Given the description of an element on the screen output the (x, y) to click on. 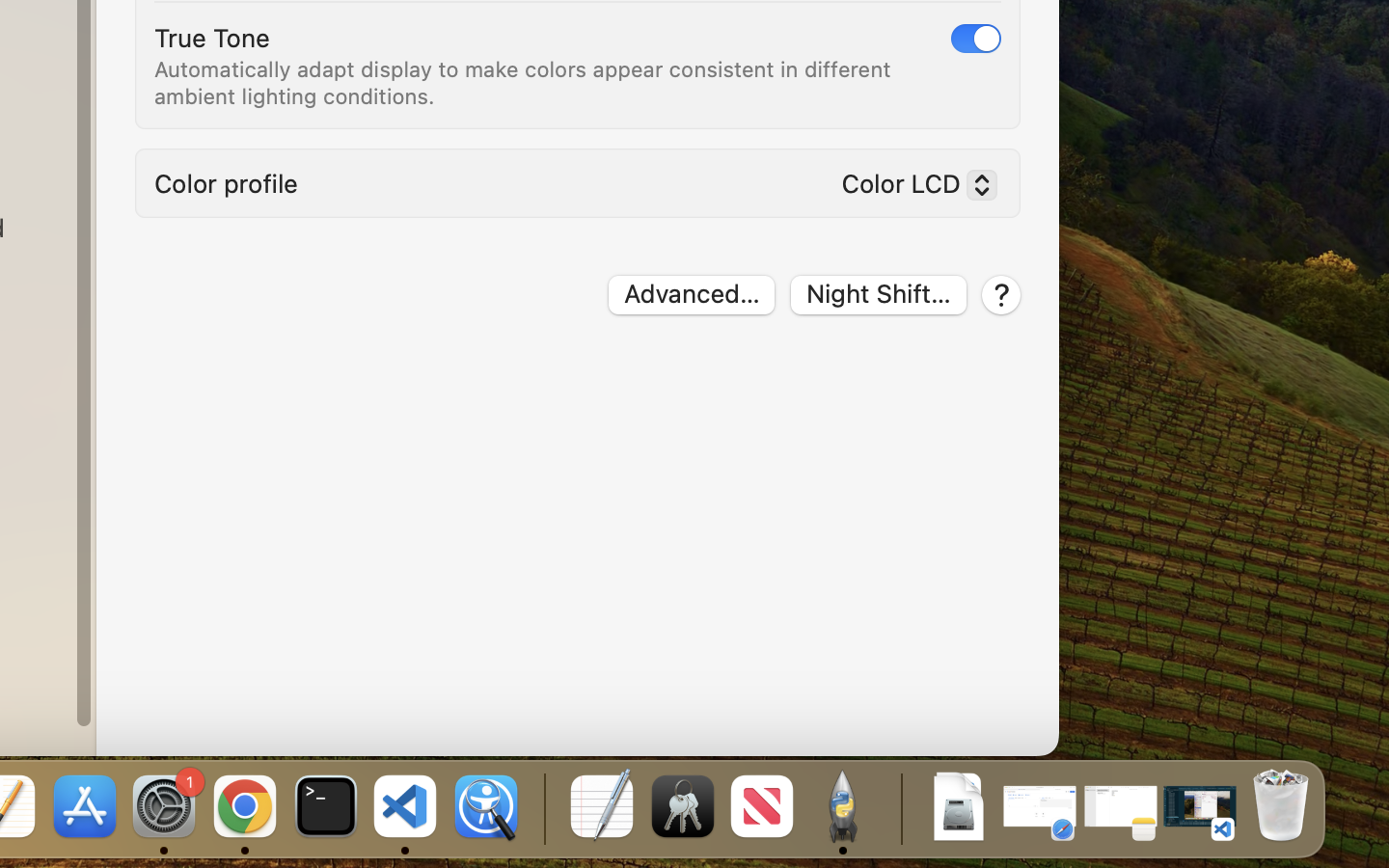
Automatically adapt display to make colors appear consistent in different ambient lighting conditions. Element type: AXStaticText (525, 82)
Color profile Element type: AXStaticText (226, 182)
0.4285714328289032 Element type: AXDockItem (541, 807)
Color LCD Element type: AXPopUpButton (911, 187)
